Given the description of an element on the screen output the (x, y) to click on. 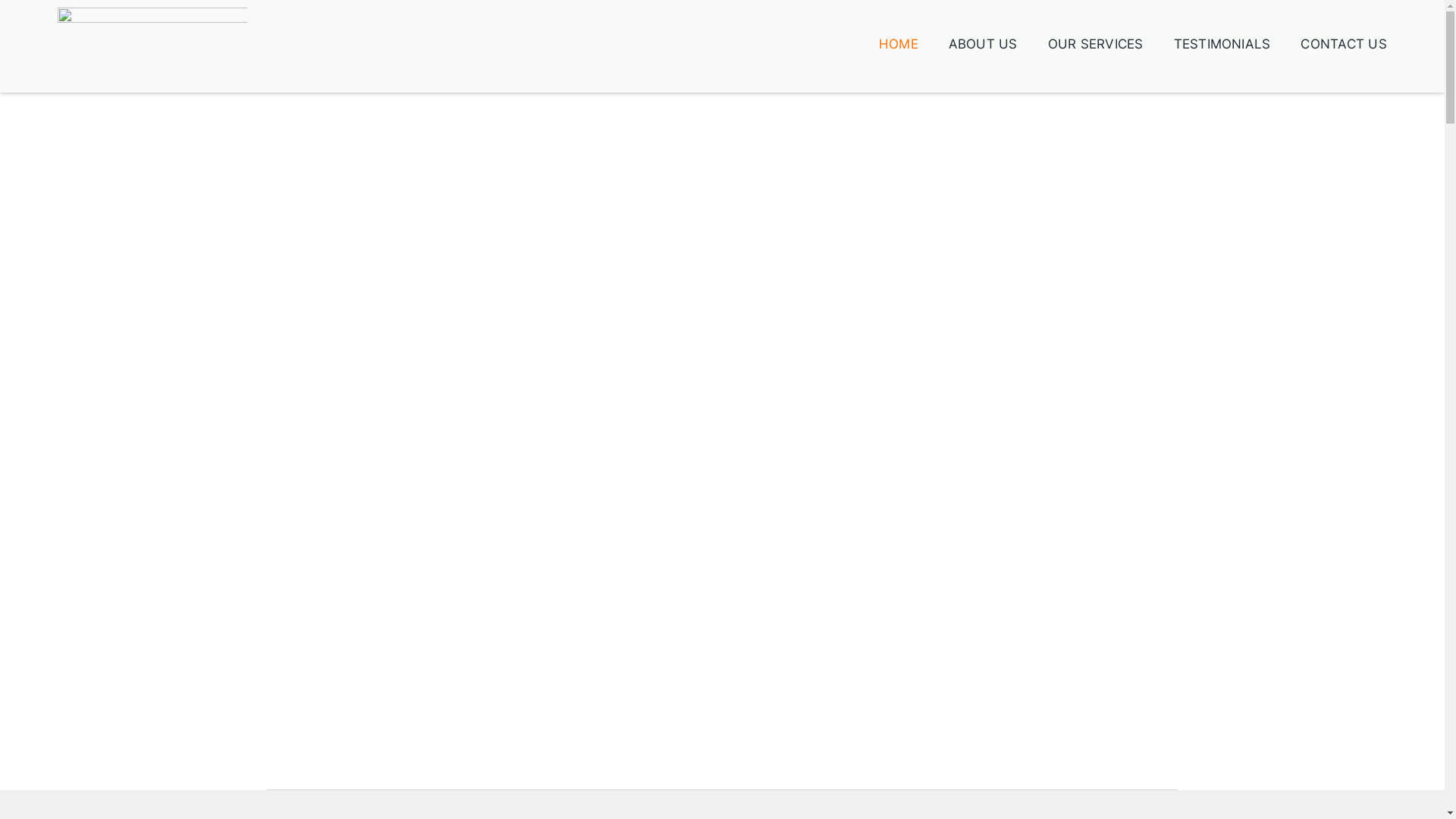
TESTIMONIALS Element type: text (1221, 44)
ABOUT US Element type: text (982, 44)
CONTACT US Element type: text (1343, 44)
OUR SERVICES Element type: text (1095, 44)
HOME Element type: text (898, 44)
